Given the description of an element on the screen output the (x, y) to click on. 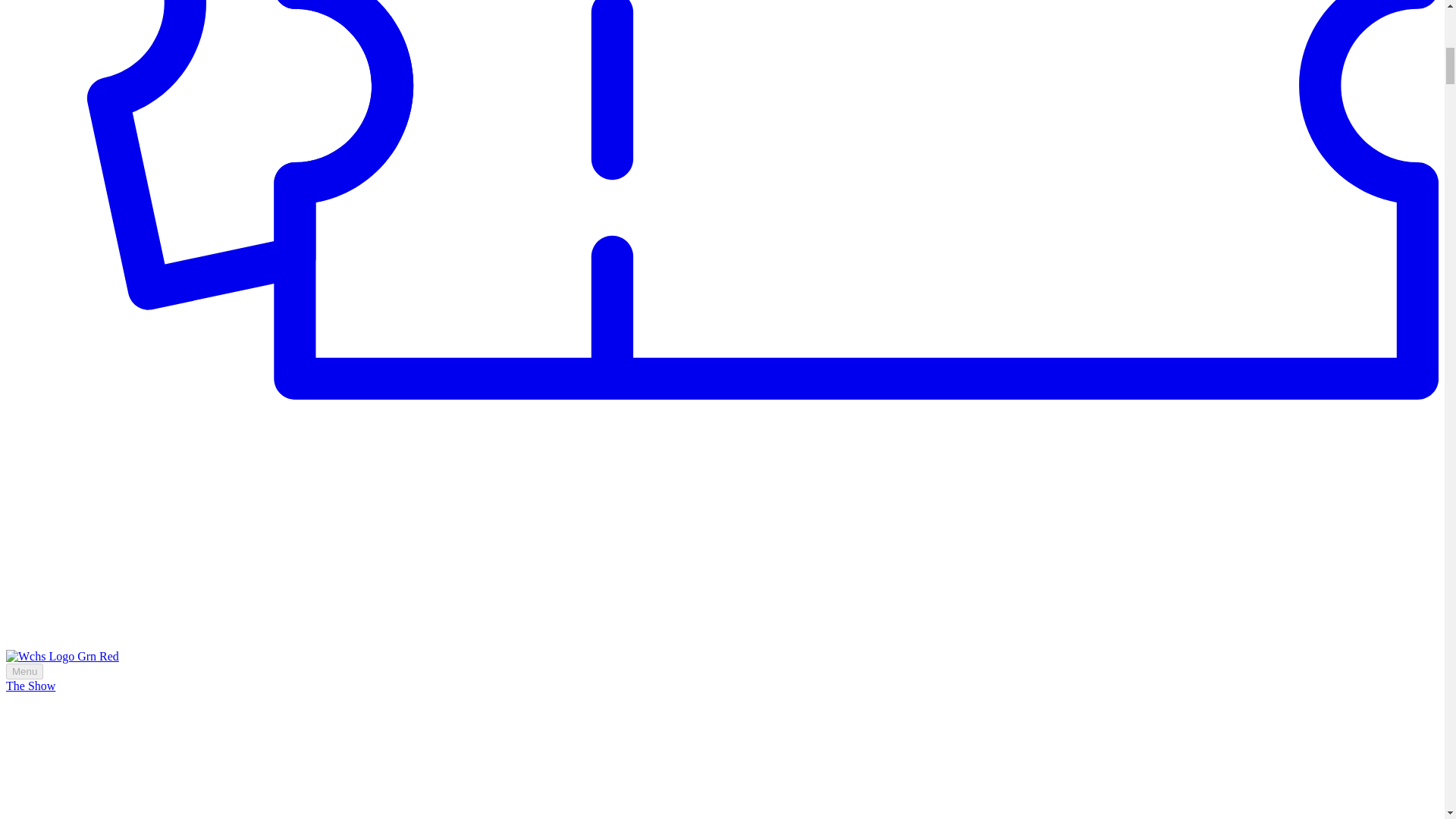
Menu (24, 671)
